Given the description of an element on the screen output the (x, y) to click on. 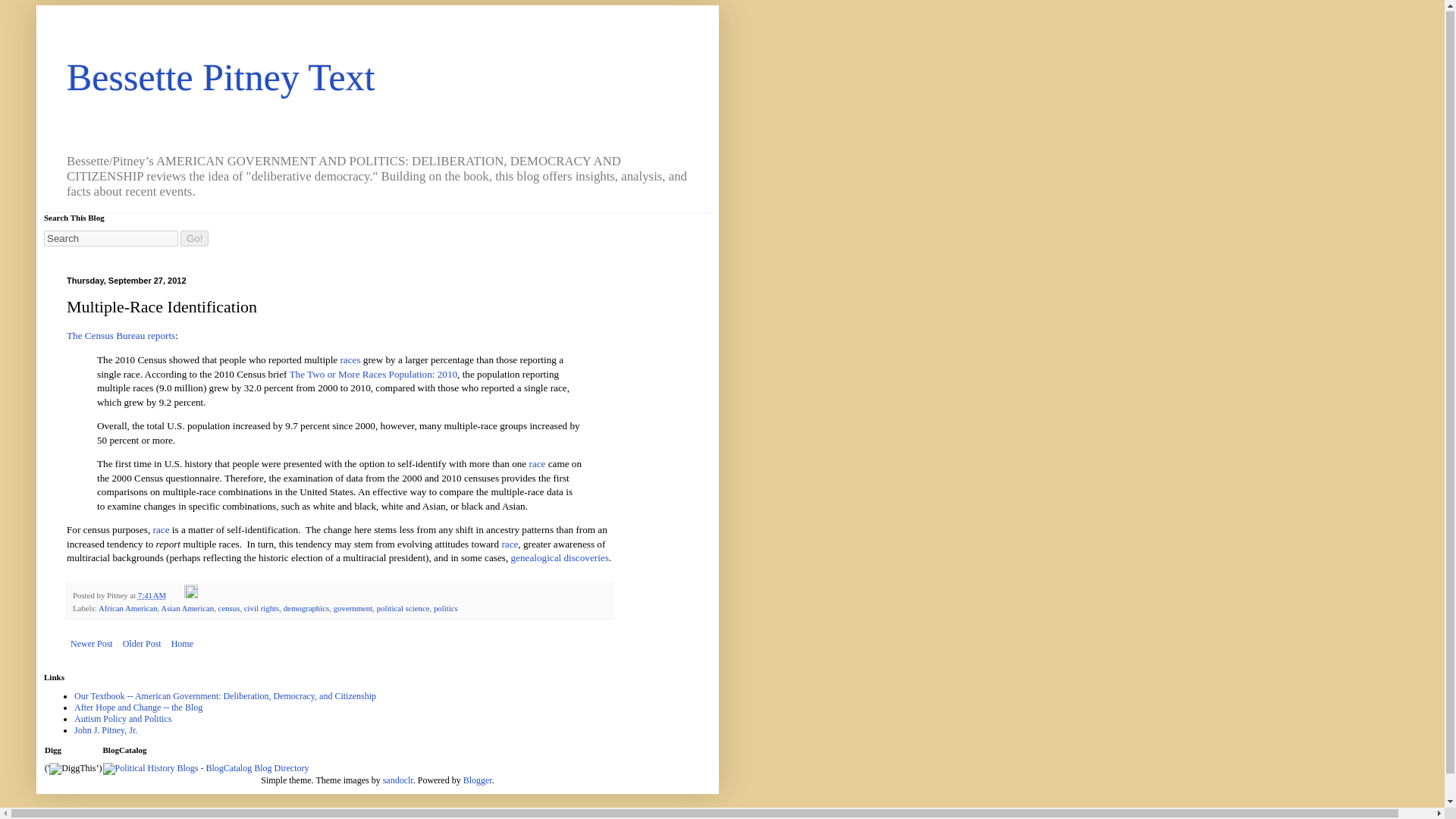
Asian American (187, 607)
Edit Post (191, 594)
race (160, 529)
civil rights (261, 607)
politics (445, 607)
Newer Post (91, 643)
The Census Bureau reports (120, 335)
genealogical discoveries (559, 557)
After Hope and Change -- the Blog (138, 706)
Autism Policy and Politics (122, 718)
government (352, 607)
Newer Post (91, 643)
census (229, 607)
races (349, 359)
